Given the description of an element on the screen output the (x, y) to click on. 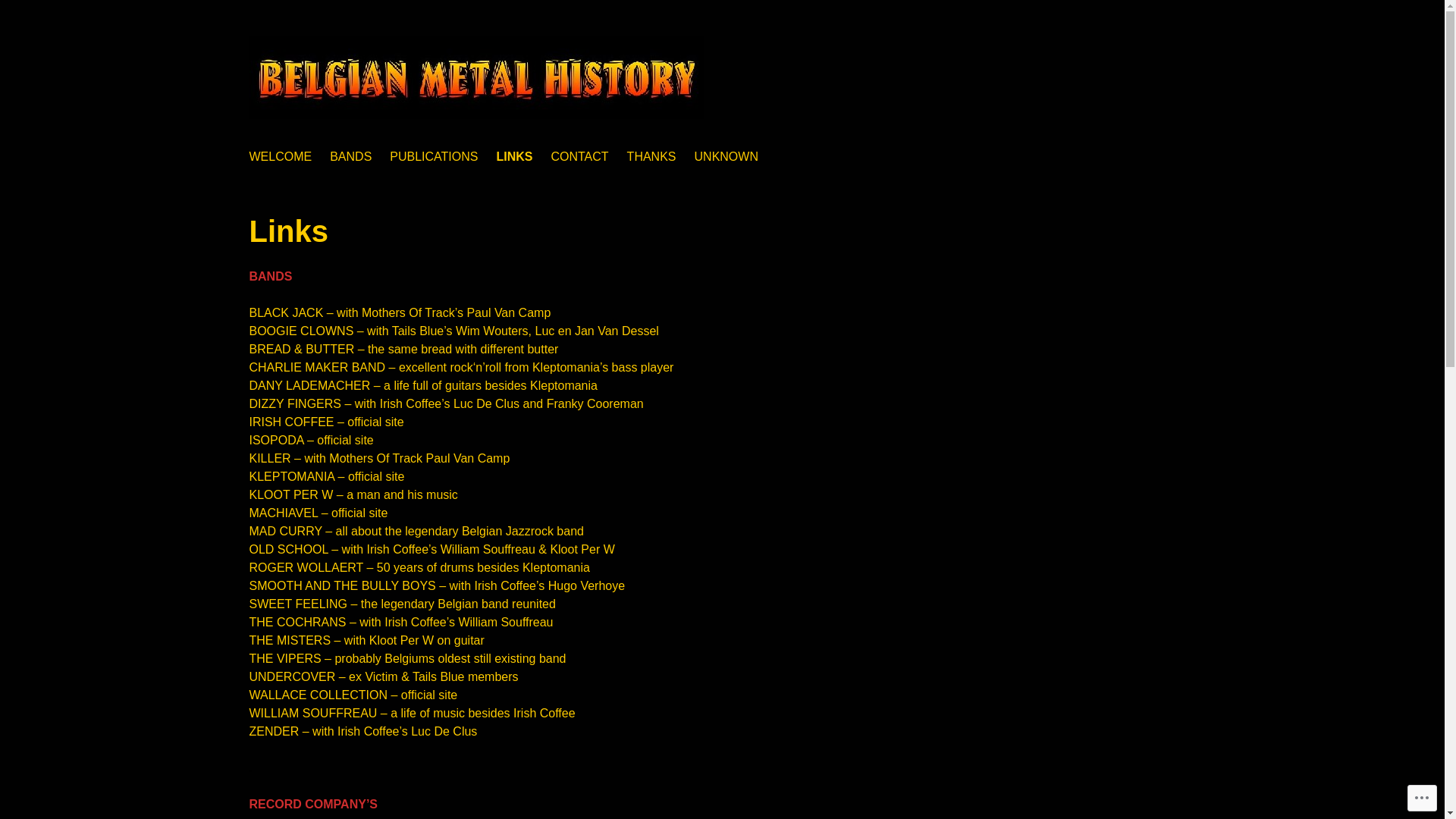
LINKS Element type: text (513, 156)
CONTACT Element type: text (579, 156)
PUBLICATIONS Element type: text (433, 156)
UNKNOWN Element type: text (726, 156)
THANKS Element type: text (651, 156)
Belgian Metal History Element type: text (344, 139)
BANDS Element type: text (350, 156)
WELCOME Element type: text (279, 156)
